Given the description of an element on the screen output the (x, y) to click on. 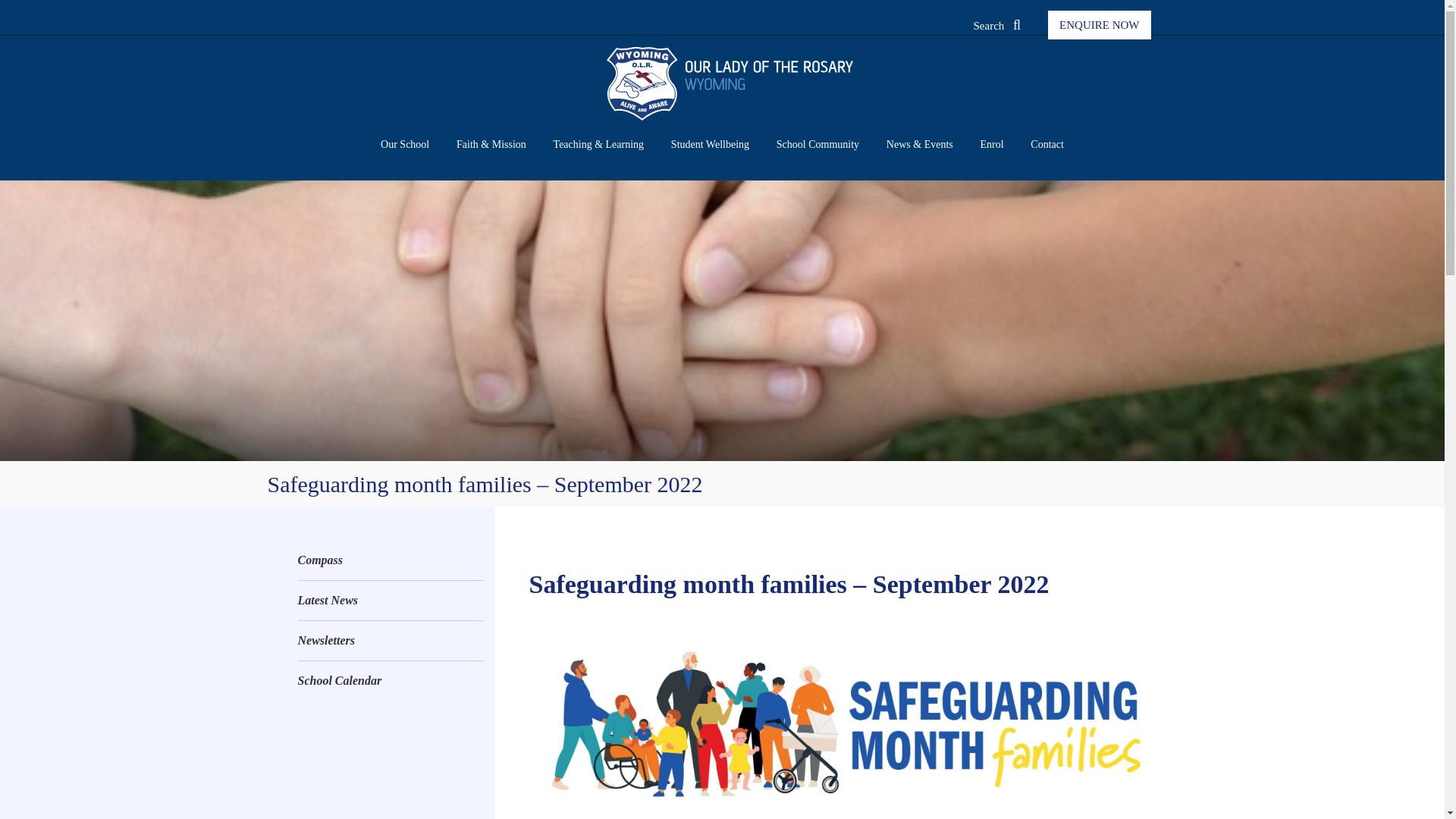
Our School (404, 145)
School Community (817, 145)
ENQUIRE NOW (1099, 24)
Student Wellbeing (710, 145)
